Given the description of an element on the screen output the (x, y) to click on. 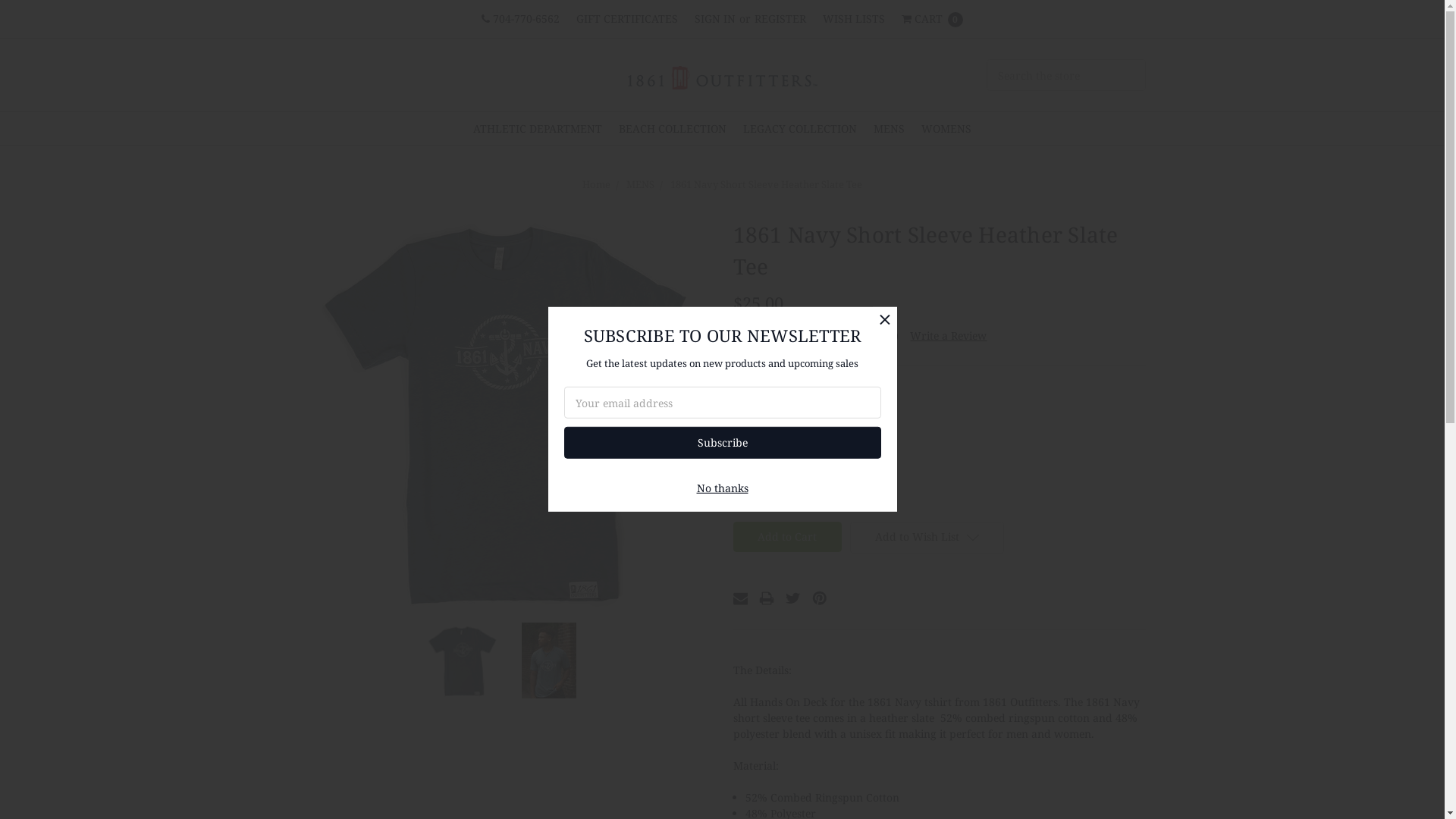
LEGACY COLLECTION Element type: text (799, 128)
1861 Navy Short Sleeve Heather Slate Tee Element type: text (766, 184)
1861 Navy Short Sleeve Heather Slate Tee Element type: hover (461, 660)
CART 0 Element type: text (932, 18)
1861 Navy Short Sleeve Heather Slate Tee Element type: hover (504, 414)
ATHLETIC DEPARTMENT Element type: text (537, 128)
REGISTER Element type: text (780, 18)
Decrease Quantity: Element type: text (742, 496)
BEACH COLLECTION Element type: text (672, 128)
WOMENS Element type: text (946, 128)
WISH LISTS Element type: text (853, 18)
1861 Navy Short Sleeve Heather Slate Tee Element type: hover (548, 660)
Add to Wish List Element type: text (927, 537)
Add to Cart Element type: text (786, 536)
No thanks Element type: text (721, 487)
Write a Review Element type: text (948, 335)
Subscribe Element type: text (722, 442)
MENS Element type: text (640, 184)
GIFT CERTIFICATES Element type: text (626, 18)
704-770-6562 Element type: text (520, 18)
SIGN IN Element type: text (714, 18)
Home Element type: text (596, 184)
MENS Element type: text (889, 128)
Increase Quantity: Element type: text (790, 496)
1861 Outfitters Element type: hover (722, 77)
